Given the description of an element on the screen output the (x, y) to click on. 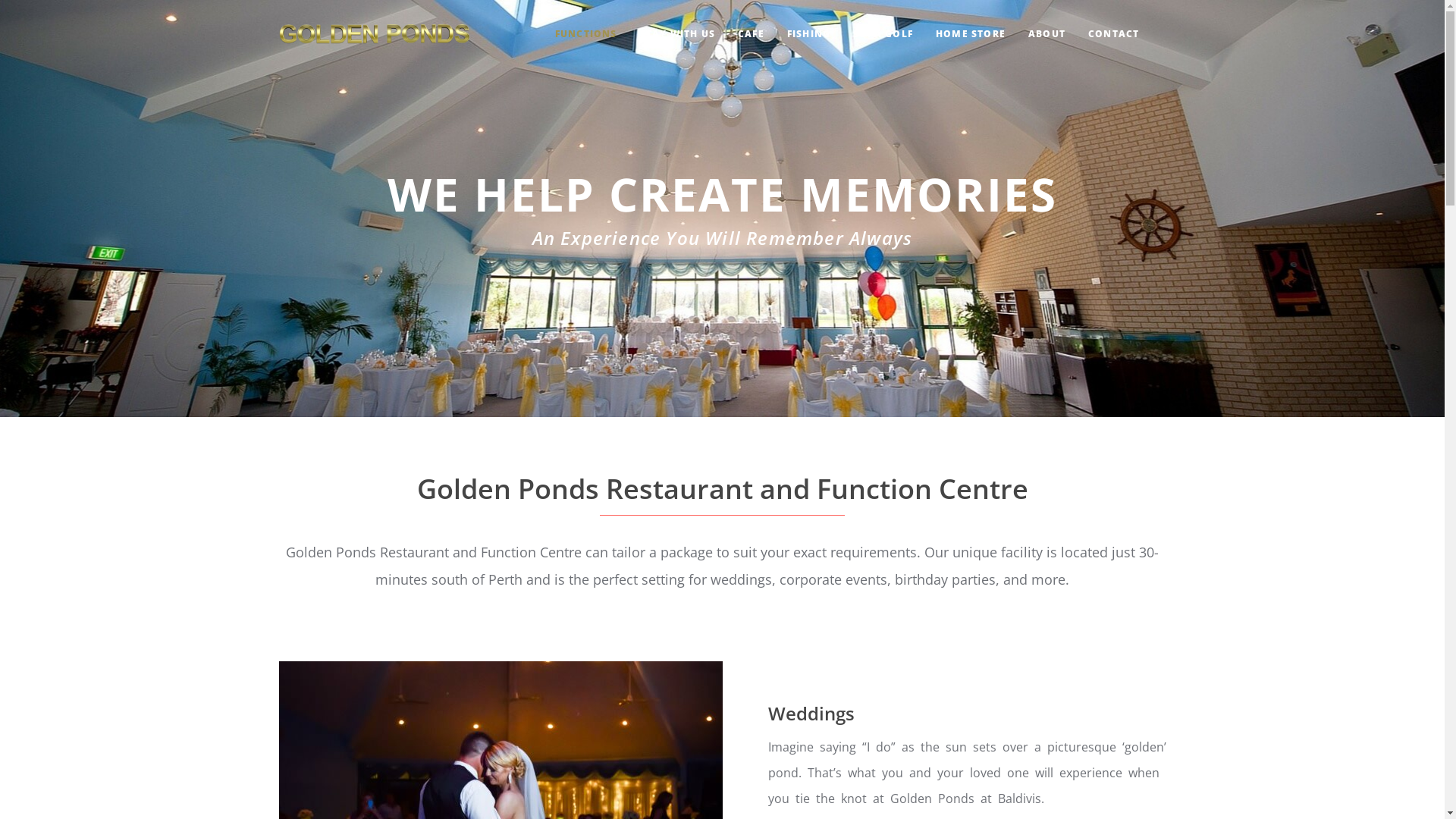
CAFE Element type: text (750, 34)
FUNCTIONS Element type: text (586, 34)
CONTACT Element type: text (1113, 34)
FISHING Element type: text (808, 34)
HOME STORE Element type: text (970, 34)
STAY WITH US Element type: text (677, 34)
ABOUT Element type: text (1046, 34)
SUPA GOLF Element type: text (883, 34)
Golden Ponds Element type: hover (374, 33)
